Given the description of an element on the screen output the (x, y) to click on. 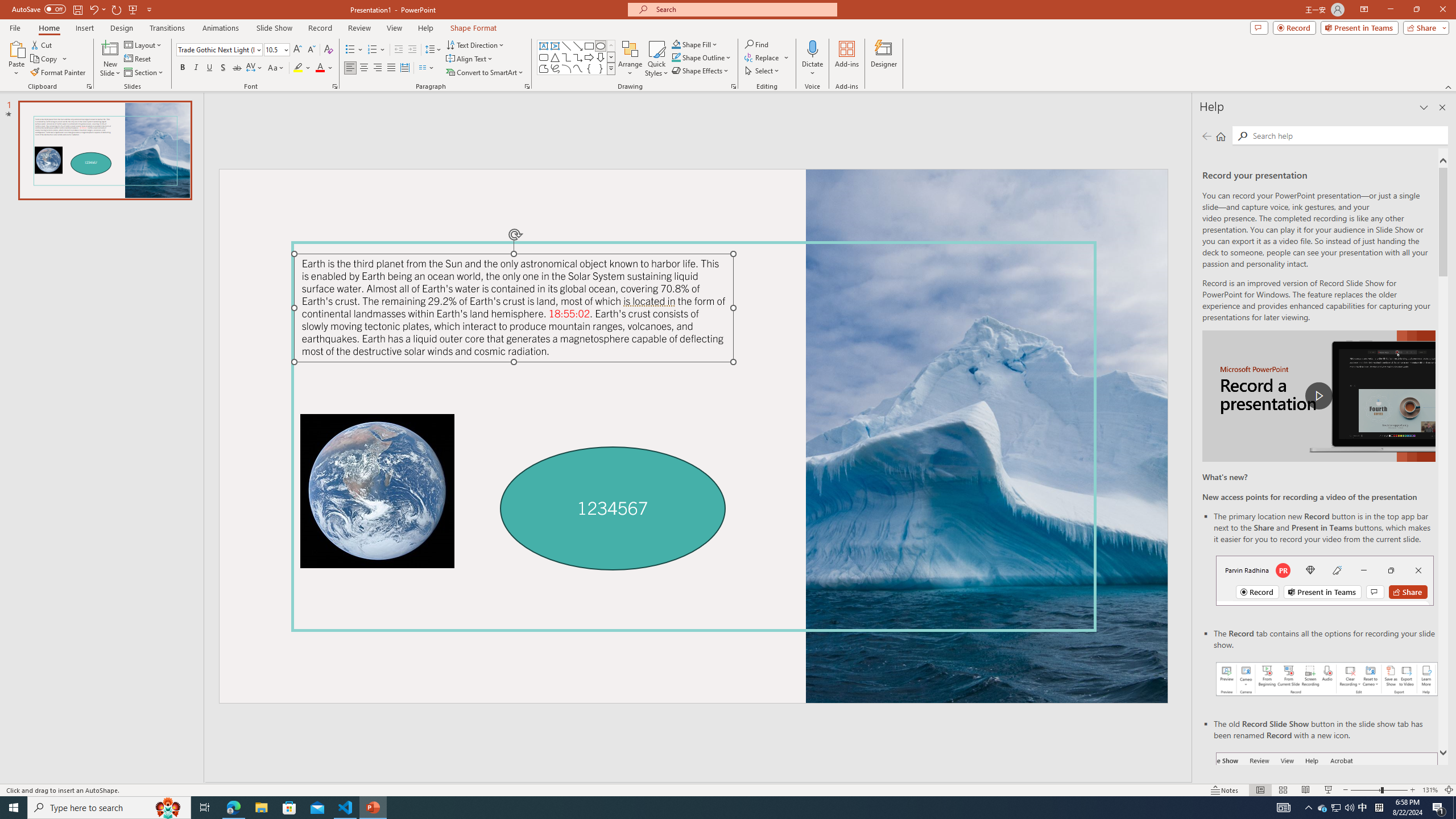
Decrease Indent (398, 49)
Arrow: Right (589, 57)
AutomationID: ShapesInsertGallery (576, 57)
Shape Outline (701, 56)
Freeform: Scribble (554, 68)
Shape Fill (694, 44)
Center (363, 67)
Slide Show (273, 28)
Share (1423, 27)
Left Brace (589, 68)
More Options (812, 68)
Format Painter (58, 72)
Paste (16, 48)
Paragraph... (526, 85)
